Given the description of an element on the screen output the (x, y) to click on. 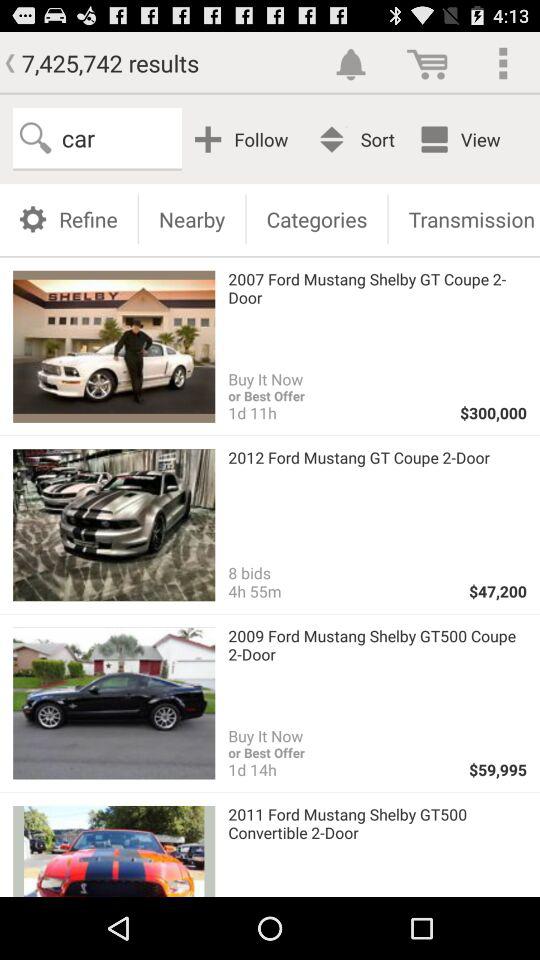
flip until categories icon (316, 218)
